Given the description of an element on the screen output the (x, y) to click on. 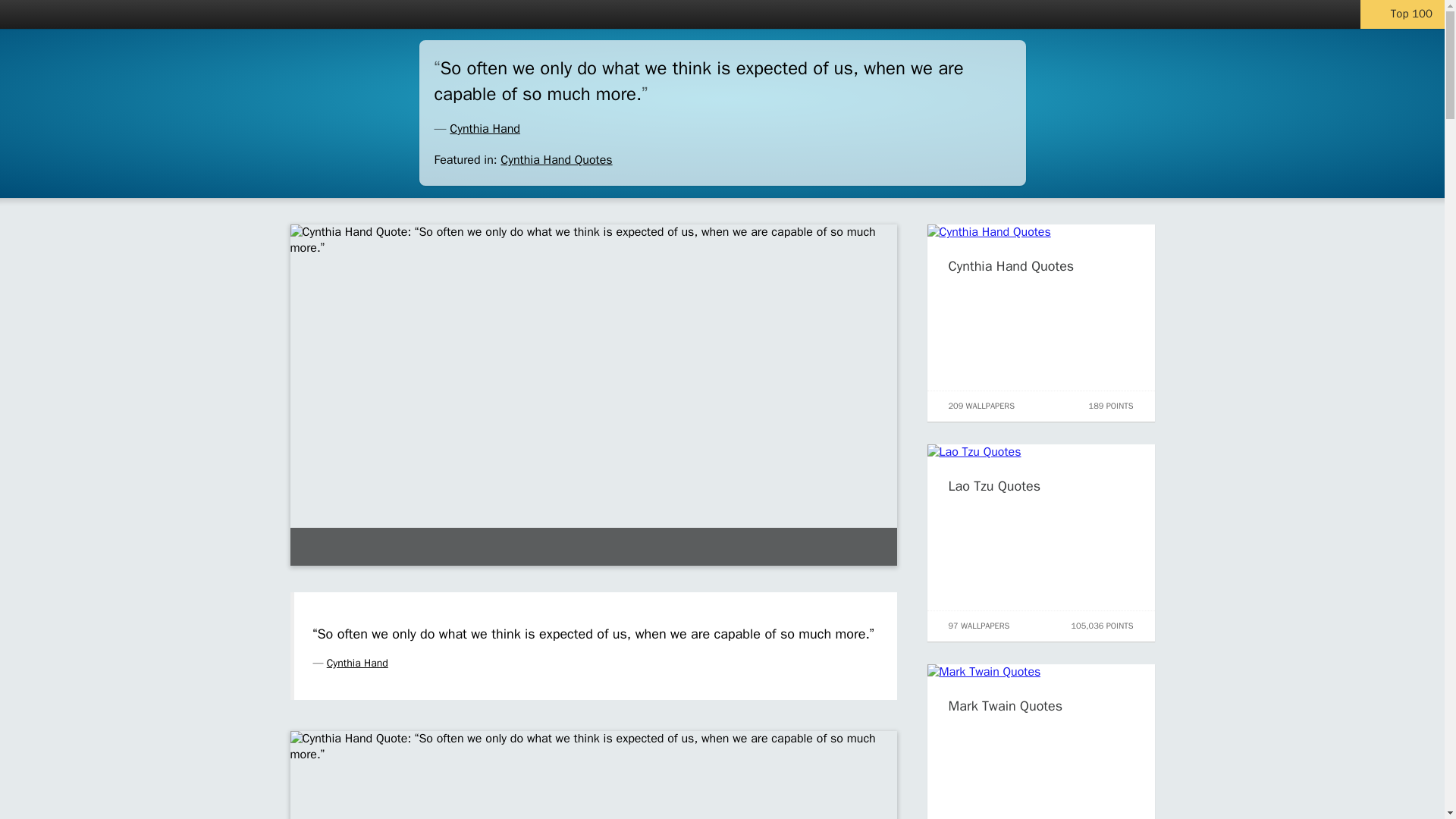
Cynthia Hand Quotes (1010, 265)
Cynthia Hand (357, 662)
Cynthia Hand (484, 128)
Lao Tzu Quotes (994, 485)
Mark Twain Quotes (1004, 705)
Cynthia Hand Quotes (555, 159)
Quotefancy (57, 14)
